Given the description of an element on the screen output the (x, y) to click on. 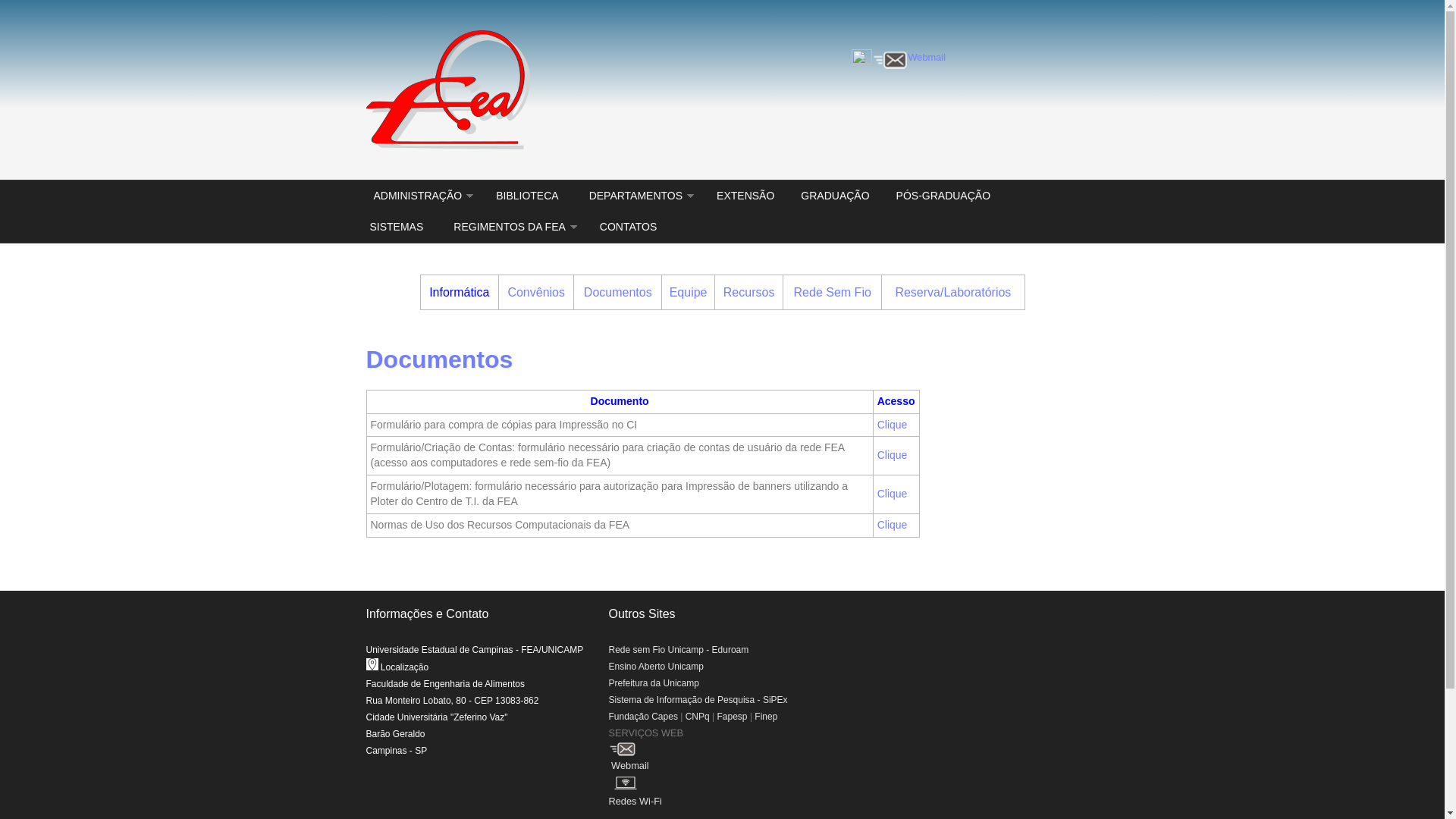
REGIMENTOS DA FEA Element type: text (511, 226)
Recursos Element type: text (749, 292)
Clique Element type: text (892, 454)
Clique Element type: text (892, 493)
Equipe Element type: text (688, 291)
Rede sem Fio Unicamp - Eduroam Element type: text (678, 649)
Clique Element type: text (892, 524)
Clique Element type: text (892, 424)
Rede Sem Fio Element type: text (832, 291)
DEPARTAMENTOS Element type: text (637, 195)
CONTATOS Element type: text (626, 226)
Prefeitura da Unicamp Element type: text (653, 682)
Ensino Aberto Unicamp Element type: text (655, 666)
Documentos Element type: text (617, 292)
 Webmail Element type: text (721, 762)
SISTEMAS Element type: text (395, 226)
CNPq Element type: text (697, 716)
BIBLIOTECA Element type: text (526, 195)
Webmail Element type: text (927, 56)
Finep Element type: text (765, 716)
Fapesp Element type: text (732, 716)
